Given the description of an element on the screen output the (x, y) to click on. 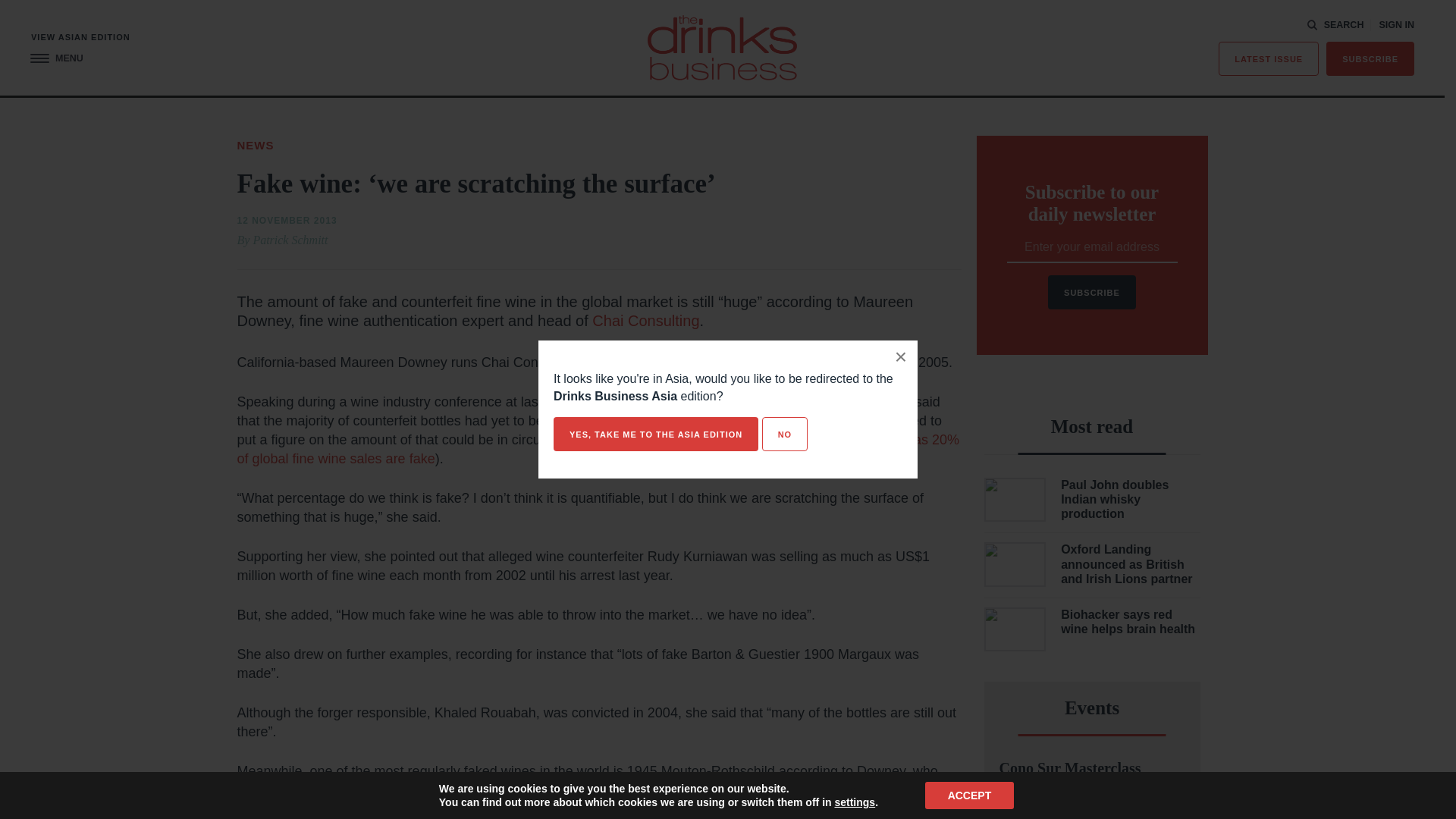
MENU (56, 58)
Chai Consulting (645, 320)
LATEST ISSUE (1268, 58)
The Drinks Business (721, 47)
SUBSCRIBE (1369, 58)
SIGN IN (1395, 25)
SEARCH (1334, 24)
VIEW ASIAN EDITION (80, 37)
YES, TAKE ME TO THE ASIA EDITION (655, 433)
NO (784, 433)
